Given the description of an element on the screen output the (x, y) to click on. 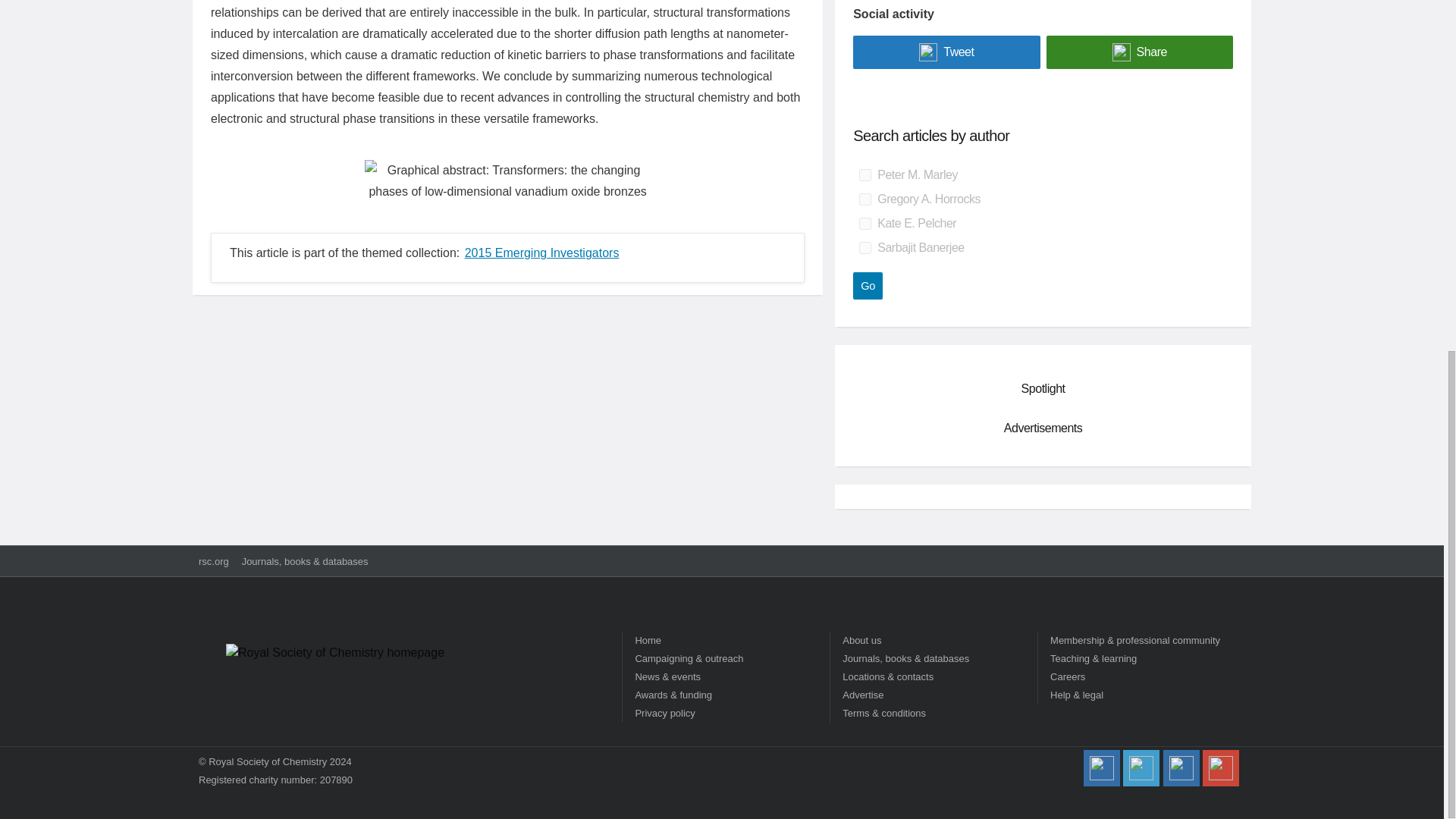
Go (867, 285)
on (864, 247)
on (864, 199)
on (864, 174)
on (864, 223)
2015 Emerging Investigators (542, 252)
Go (867, 285)
